Given the description of an element on the screen output the (x, y) to click on. 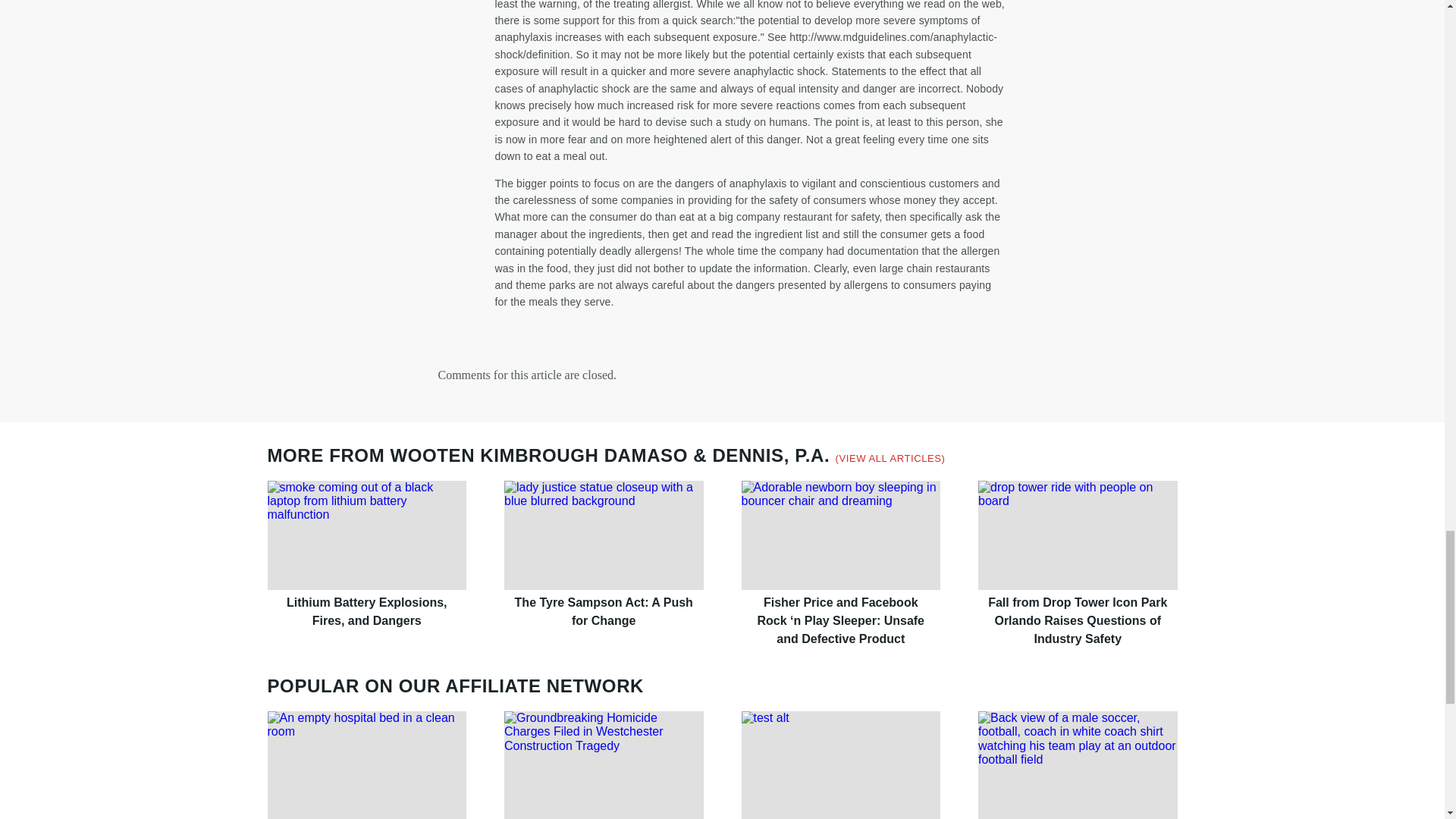
The Tyre Sampson Act: A Push for Change (603, 534)
Lithium Battery Explosions, Fires, and Dangers (365, 534)
